Given the description of an element on the screen output the (x, y) to click on. 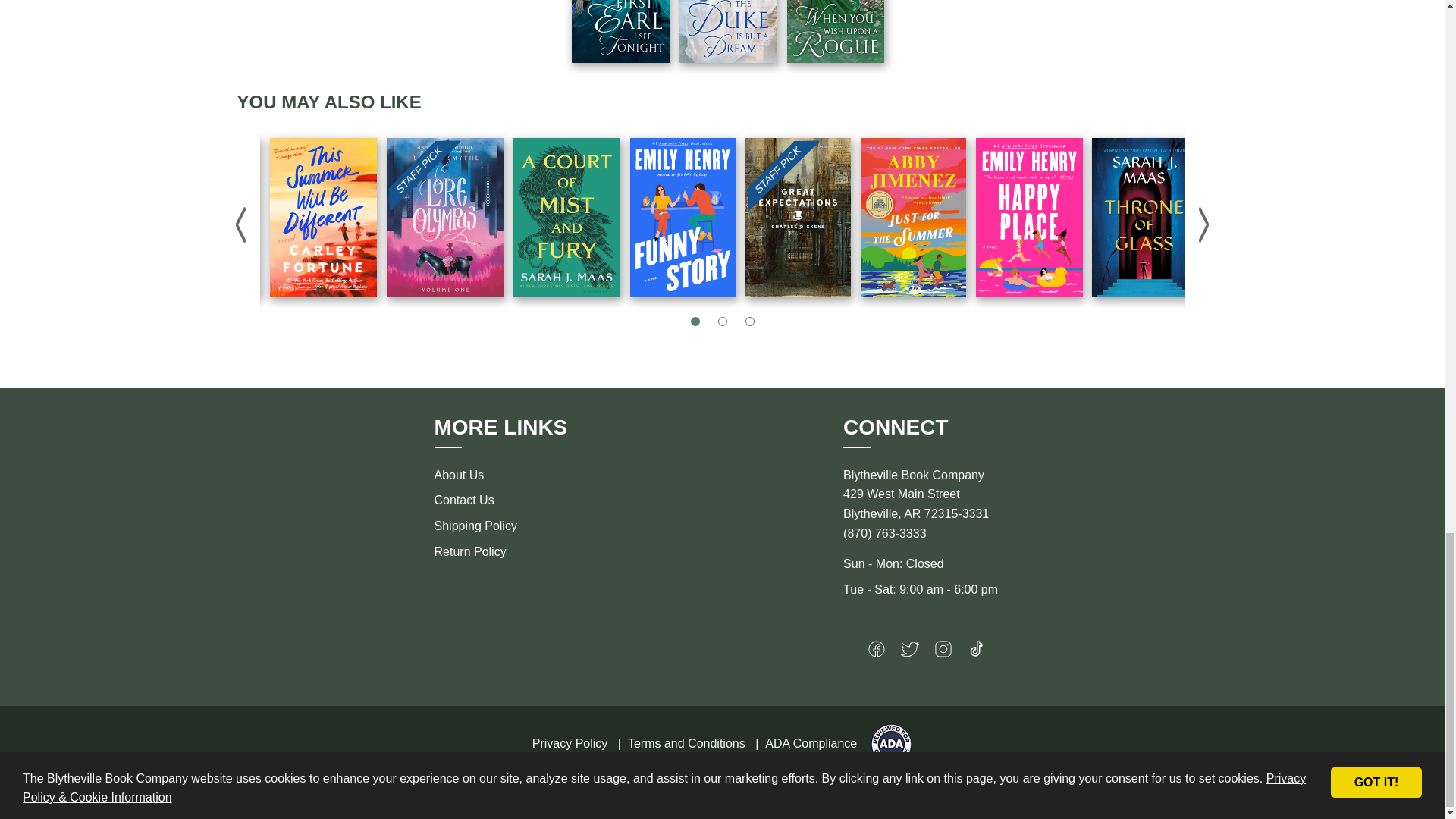
STAFF PICK (445, 217)
Connect with Instagram (943, 652)
Connect with Twitter (909, 652)
Connect with Tik Tok (976, 652)
Connect with Facebook (876, 652)
